Given the description of an element on the screen output the (x, y) to click on. 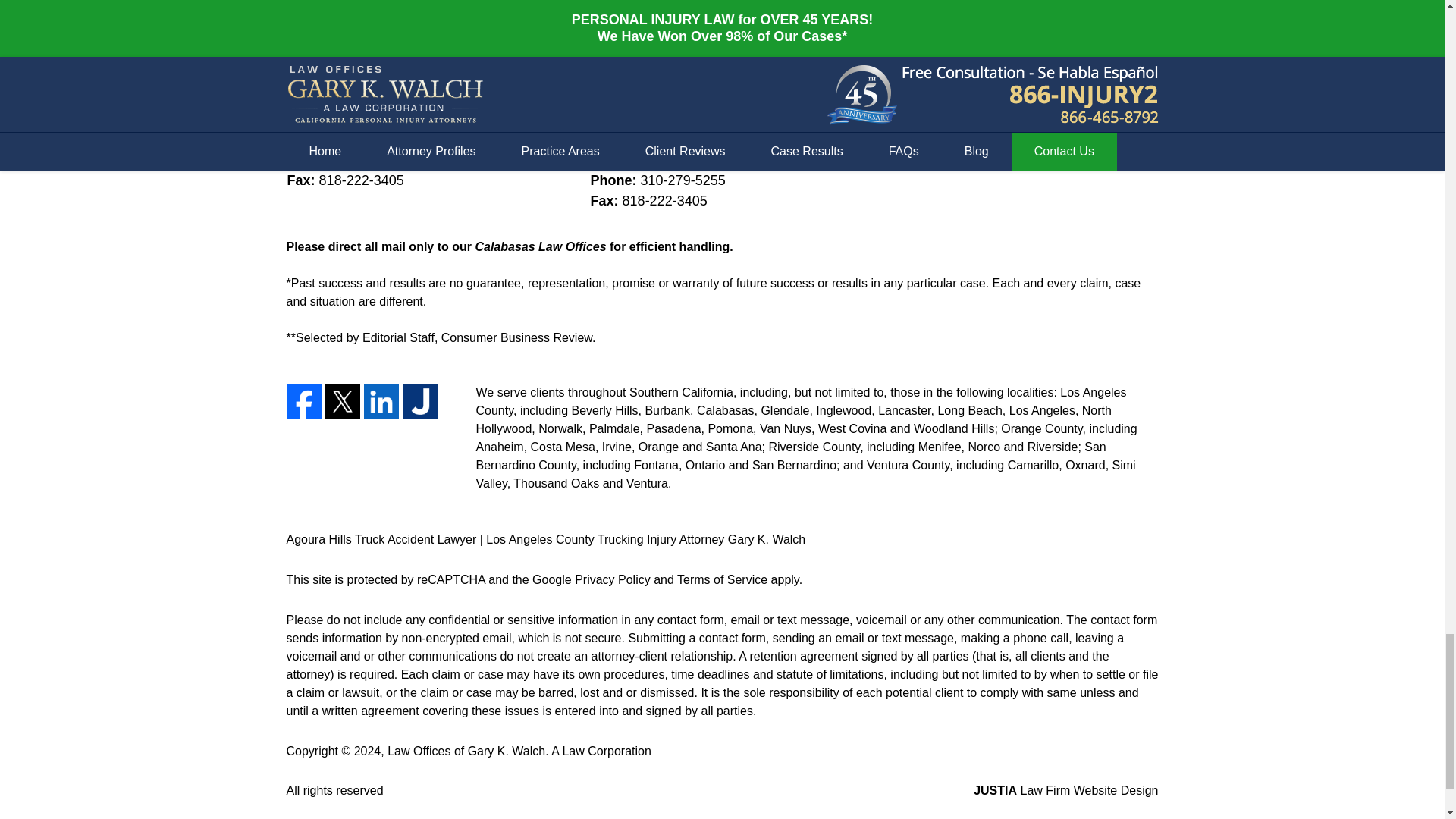
Justia (420, 401)
Facebook (303, 401)
Twitter (341, 401)
LinkedIn (381, 401)
